Given the description of an element on the screen output the (x, y) to click on. 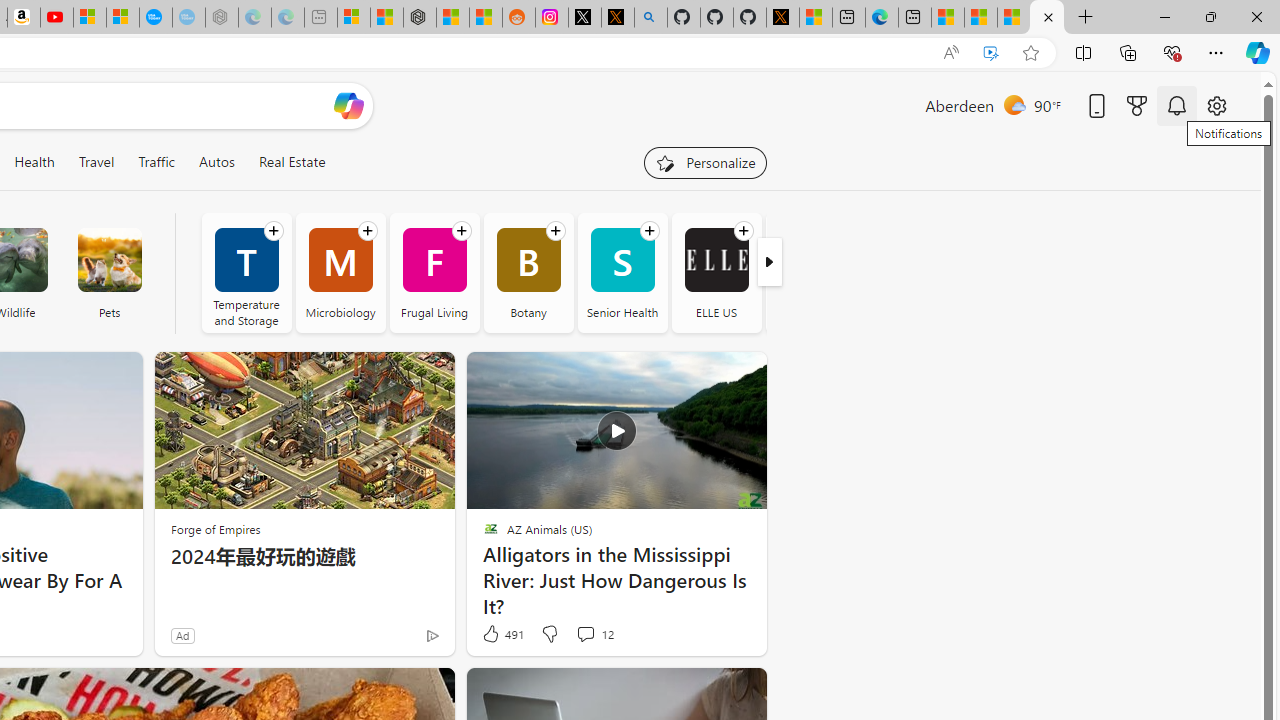
Hide this story (706, 691)
Nordace - Nordace has arrived Hong Kong - Sleeping (222, 17)
491 Like (502, 633)
Pets (109, 260)
